Given the description of an element on the screen output the (x, y) to click on. 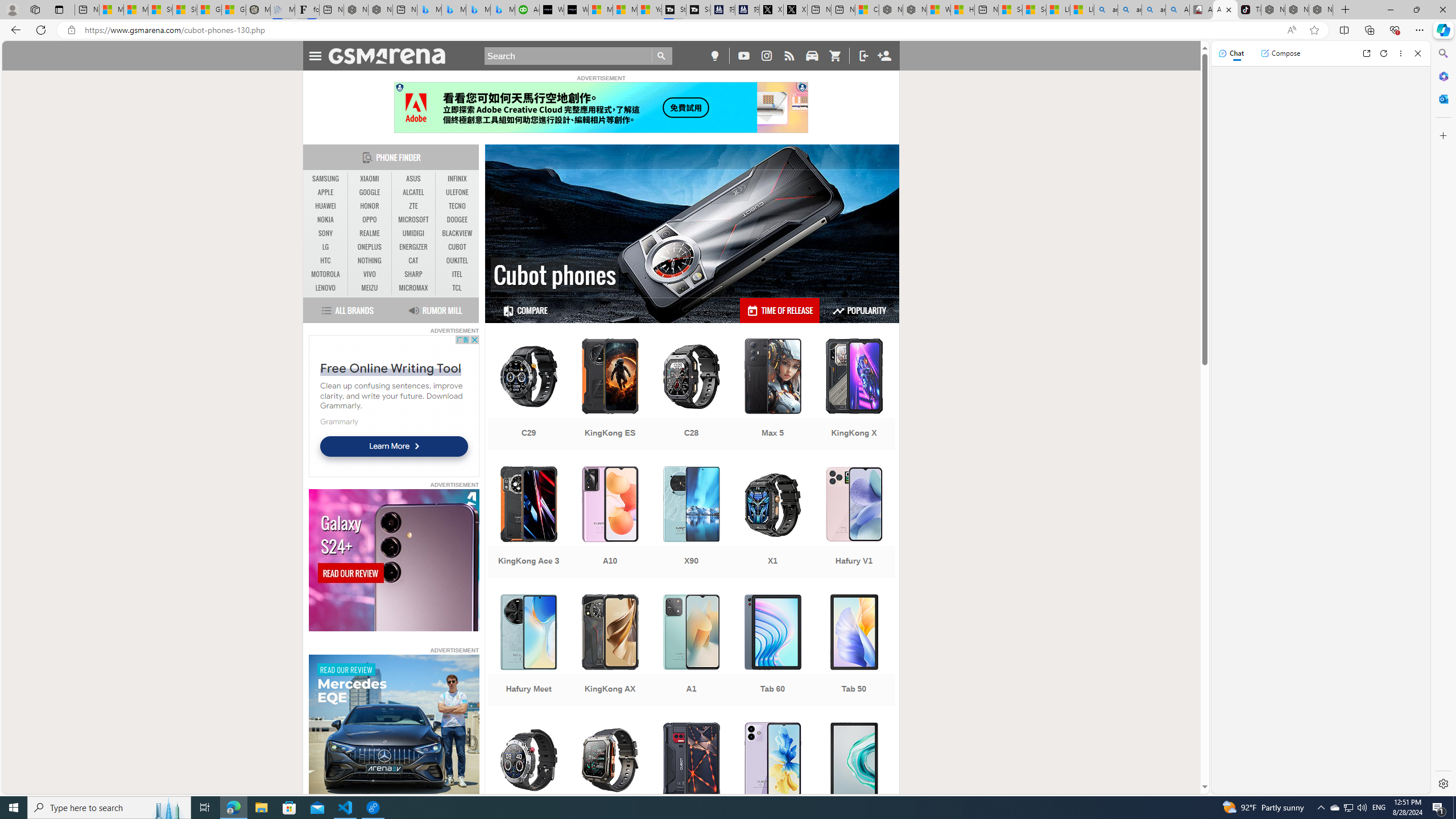
Class: qc-adchoices-icon (802, 86)
TCL (457, 287)
INFINIX (457, 178)
REALME (369, 233)
ONEPLUS (369, 246)
VIVO (369, 273)
